Given the description of an element on the screen output the (x, y) to click on. 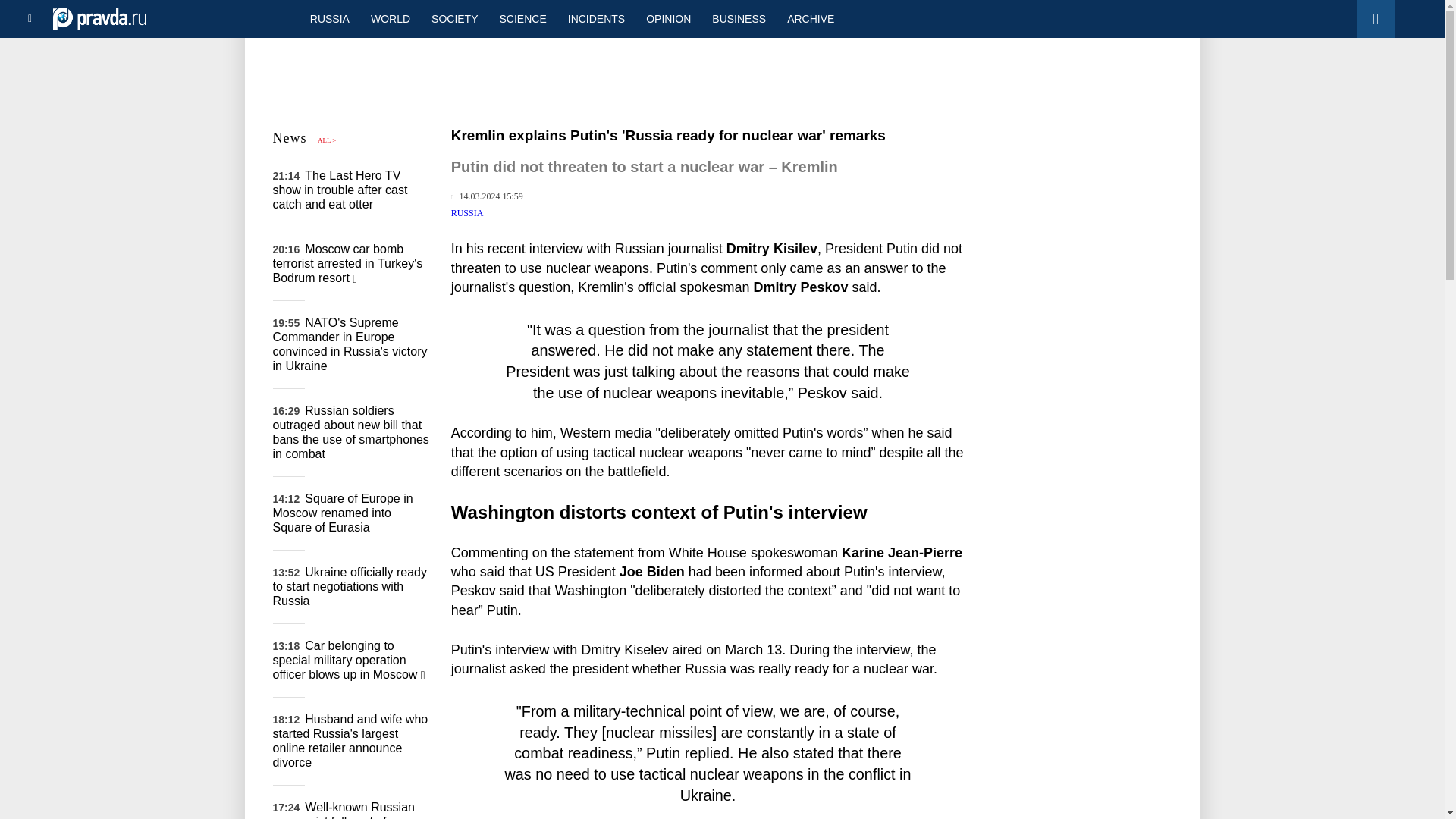
Published (486, 196)
INCIDENTS (595, 18)
RUSSIA (467, 213)
RUSSIA (329, 18)
ARCHIVE (810, 18)
OPINION (667, 18)
Square of Europe in Moscow renamed into Square of Eurasia (343, 512)
BUSINESS (738, 18)
Ukraine officially ready to start negotiations with Russia (349, 586)
SCIENCE (523, 18)
Moscow car bomb terrorist arrested in Turkey's Bodrum resort (348, 263)
